Given the description of an element on the screen output the (x, y) to click on. 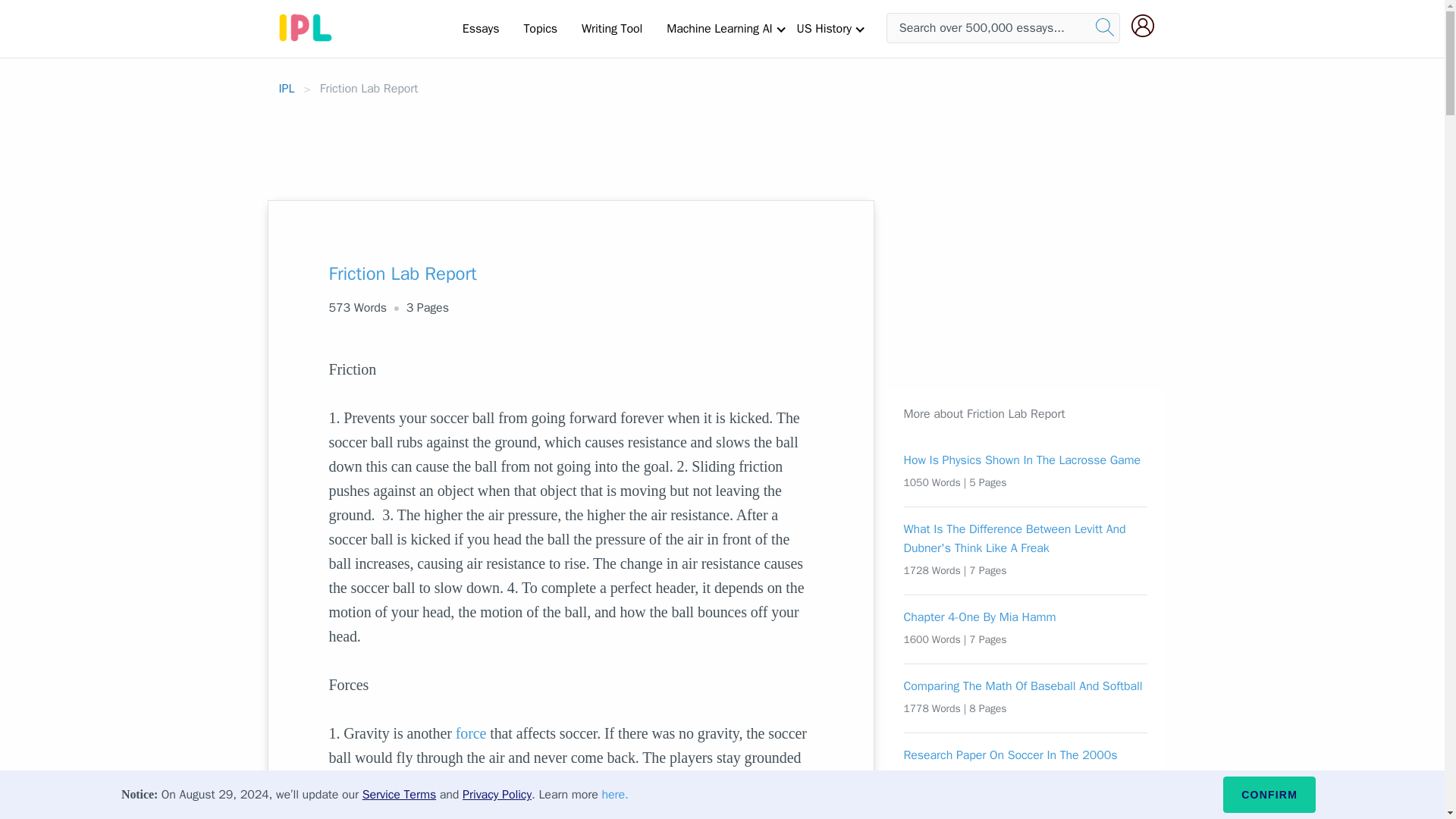
IPL (287, 88)
Topics (540, 28)
force (470, 733)
Machine Learning AI (718, 28)
US History (823, 28)
Writing Tool (611, 28)
Essays (480, 28)
